Given the description of an element on the screen output the (x, y) to click on. 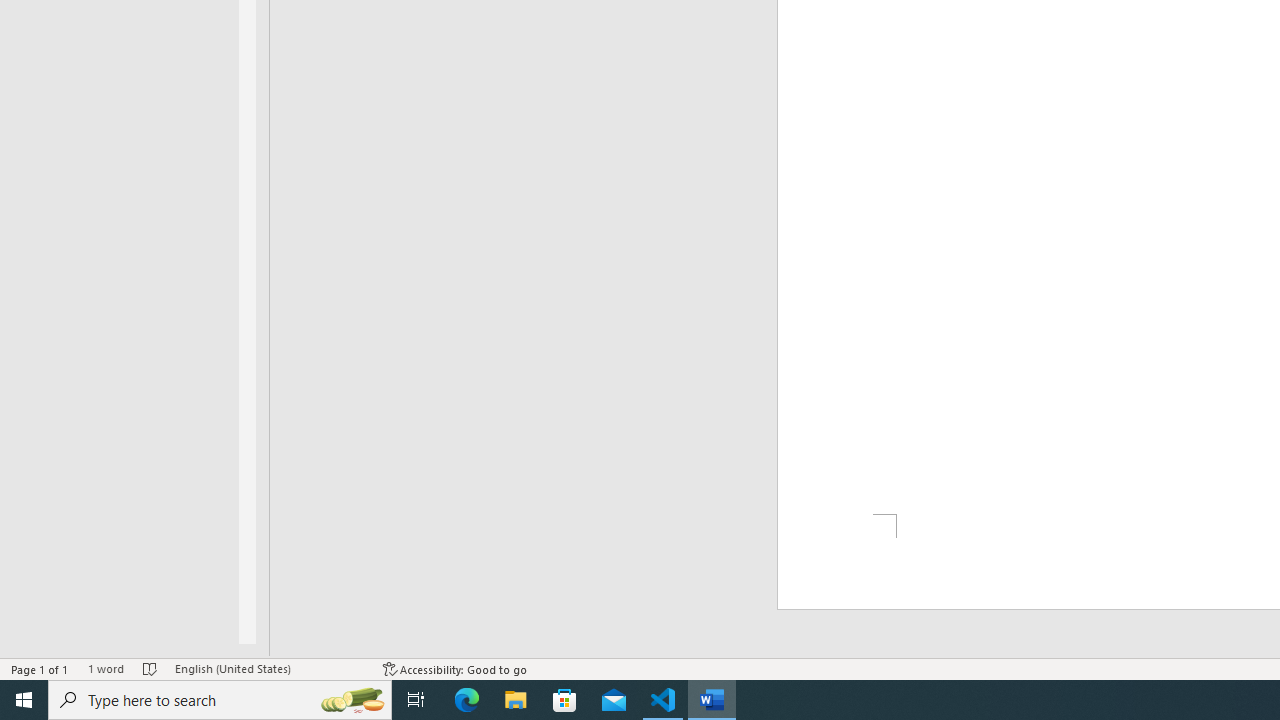
Spelling and Grammar Check No Errors (150, 668)
Page Number Page 1 of 1 (39, 668)
